Given the description of an element on the screen output the (x, y) to click on. 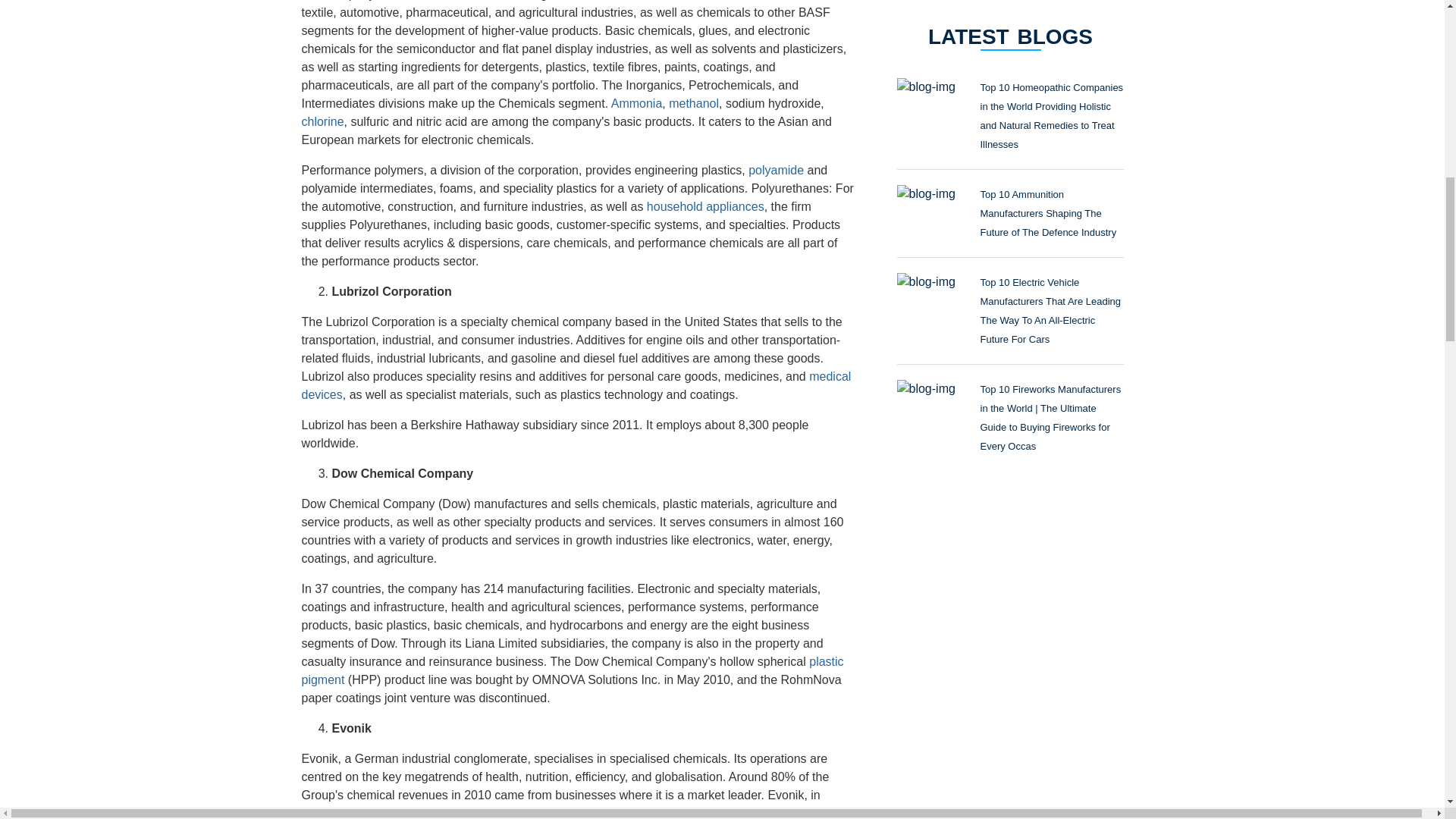
Ammonia (636, 103)
polyamide (775, 169)
medical devices (576, 385)
plastic pigment (572, 670)
household appliances (705, 205)
methanol (693, 103)
chlorine (322, 121)
